Given the description of an element on the screen output the (x, y) to click on. 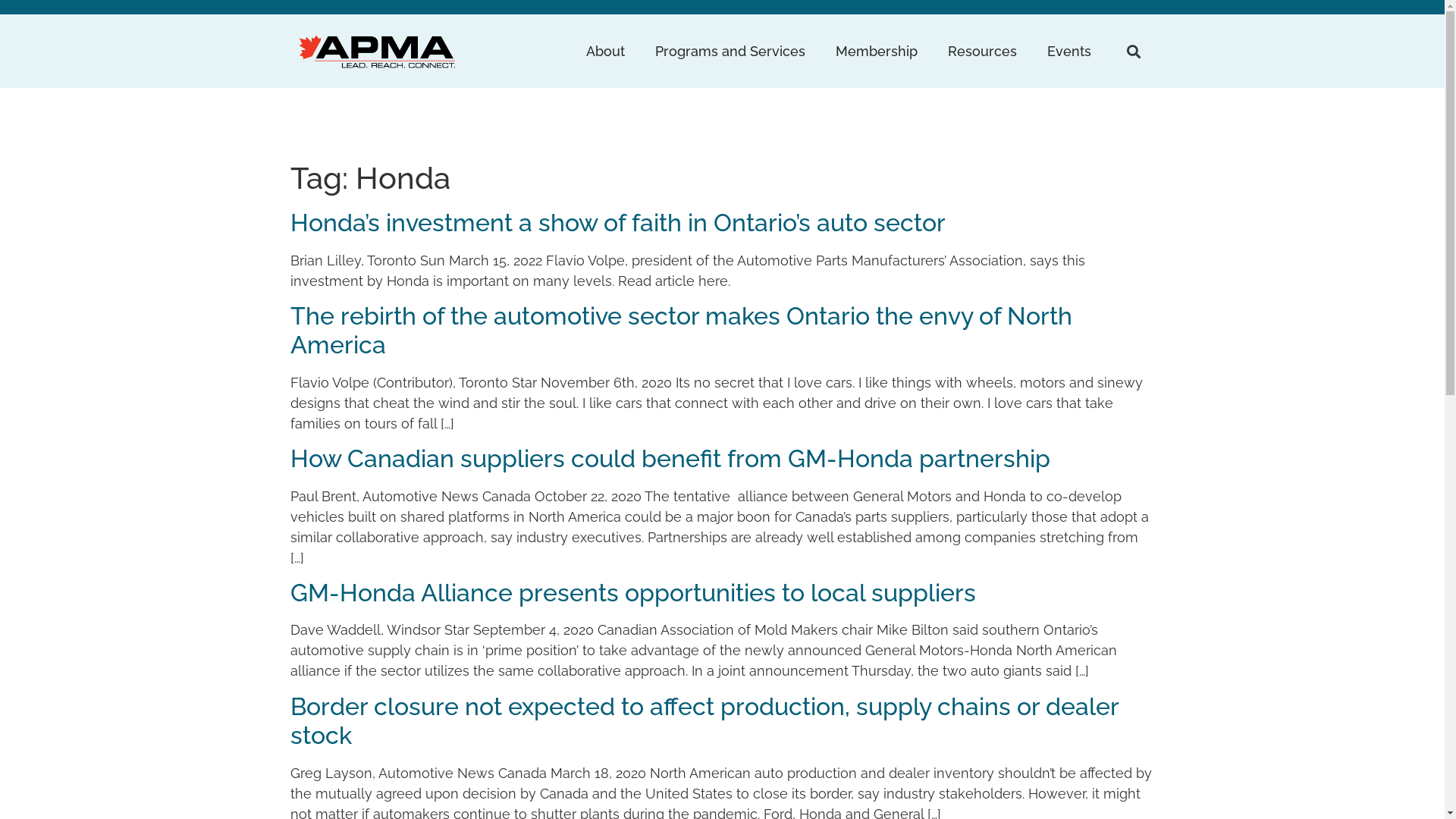
About Element type: text (605, 51)
GM-Honda Alliance presents opportunities to local suppliers Element type: text (632, 592)
Programs and Services Element type: text (730, 51)
Events Element type: text (1069, 51)
Membership Element type: text (876, 51)
Resources Element type: text (982, 51)
